Given the description of an element on the screen output the (x, y) to click on. 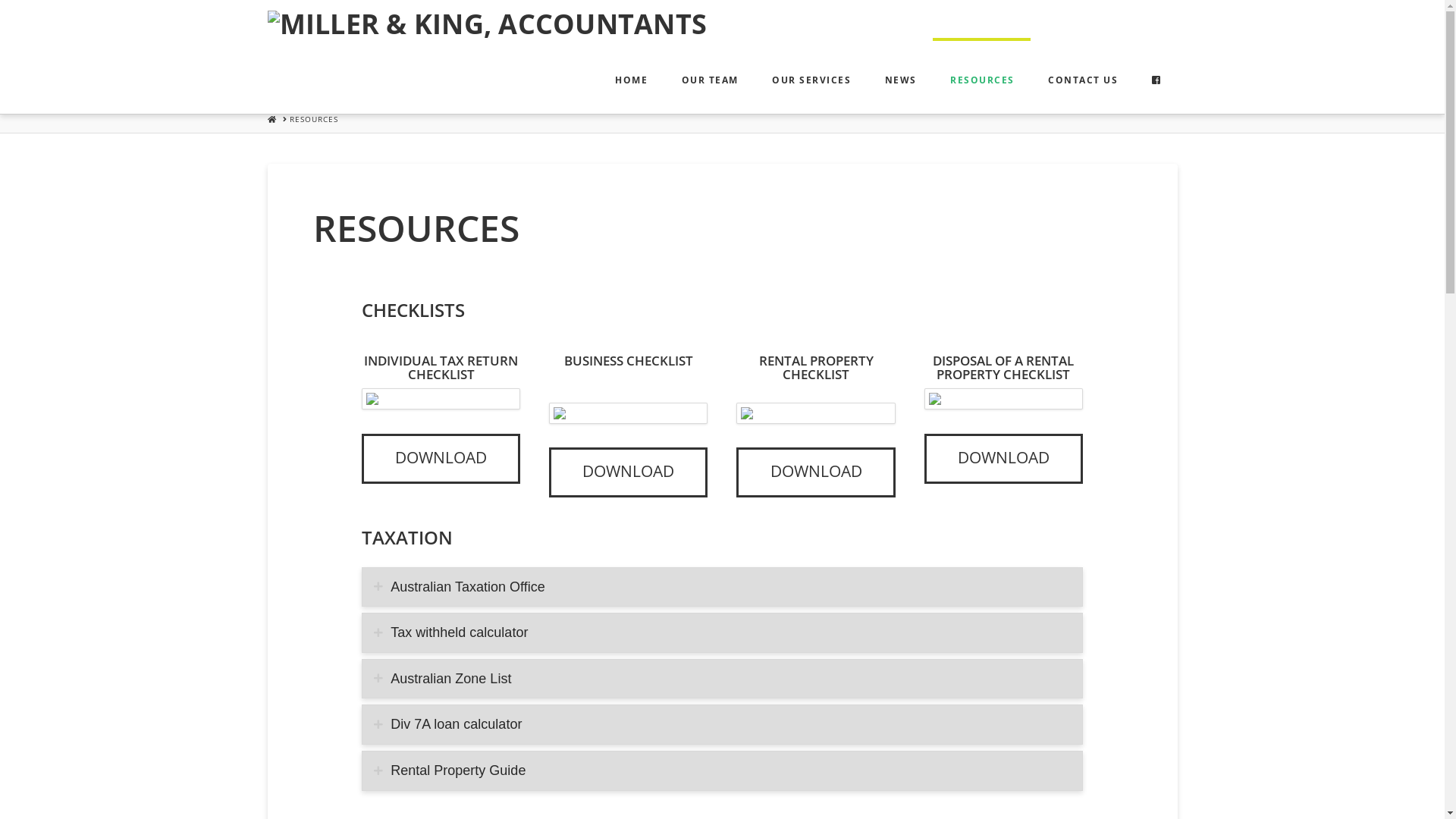
RESOURCES Element type: text (313, 118)
OUR SERVICES Element type: text (810, 75)
Australian Zone List Element type: text (721, 678)
Australian Taxation Office Element type: text (721, 586)
NEWS Element type: text (900, 75)
CONTACT US Element type: text (1082, 75)
Div 7A loan calculator Element type: text (721, 724)
Tax withheld calculator Element type: text (721, 632)
HOME Element type: text (271, 118)
DOWNLOAD Element type: text (815, 472)
DOWNLOAD Element type: text (1003, 458)
RESOURCES Element type: text (981, 75)
DOWNLOAD Element type: text (440, 458)
DOWNLOAD Element type: text (628, 472)
OUR TEAM Element type: text (709, 75)
HOME Element type: text (630, 75)
Rental Property Guide Element type: text (721, 770)
